Given the description of an element on the screen output the (x, y) to click on. 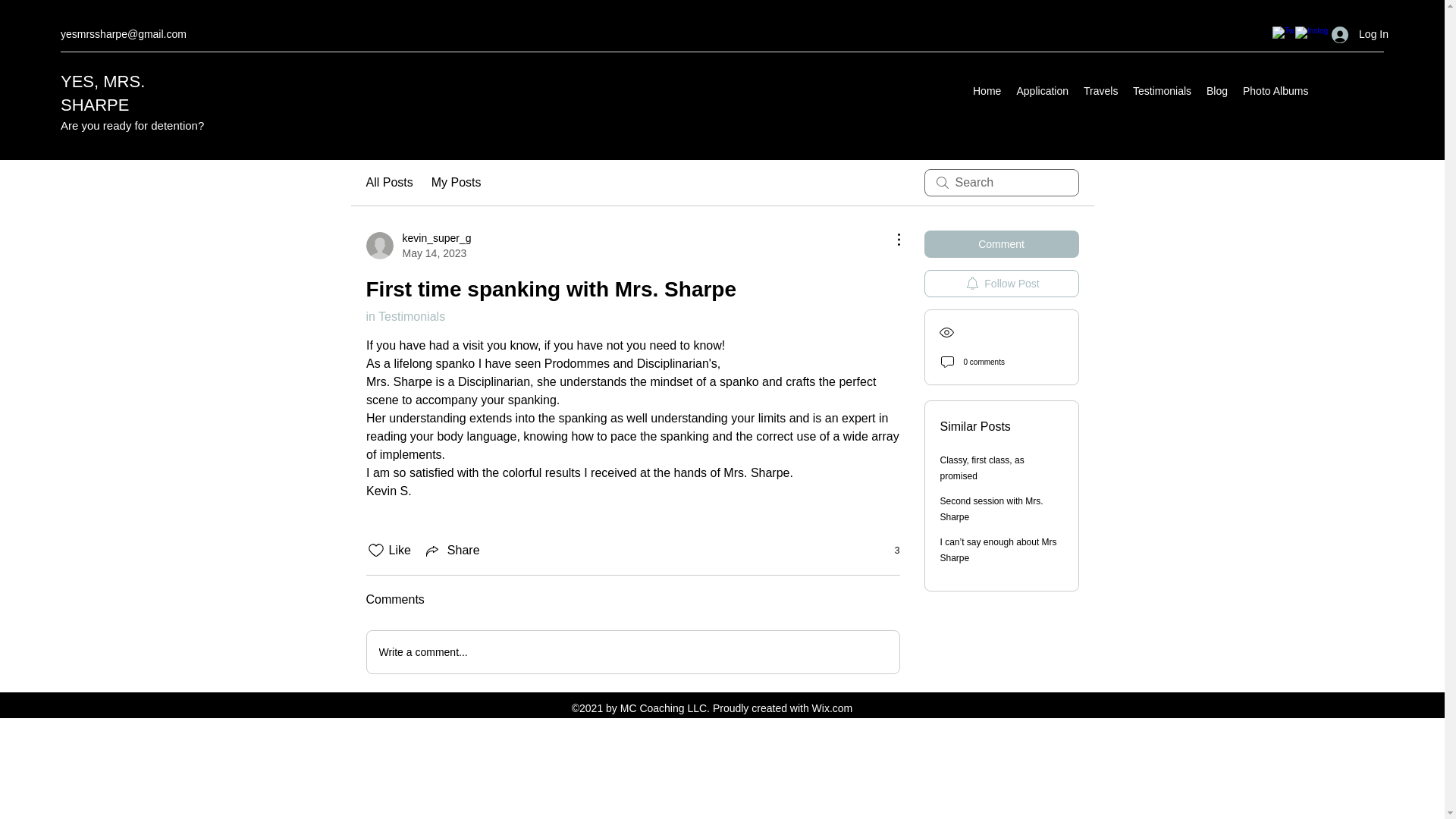
Write a comment... (632, 651)
Home (987, 90)
All Posts (388, 182)
Classy, first class, as promised (982, 468)
Photo Albums (1275, 90)
3 (888, 550)
Comment (1000, 243)
Blog (1216, 90)
My Posts (455, 182)
Log In (1359, 34)
Application (1042, 90)
Follow Post (1000, 283)
Second session with Mrs. Sharpe (991, 509)
Travels (1100, 90)
in Testimonials (405, 316)
